Given the description of an element on the screen output the (x, y) to click on. 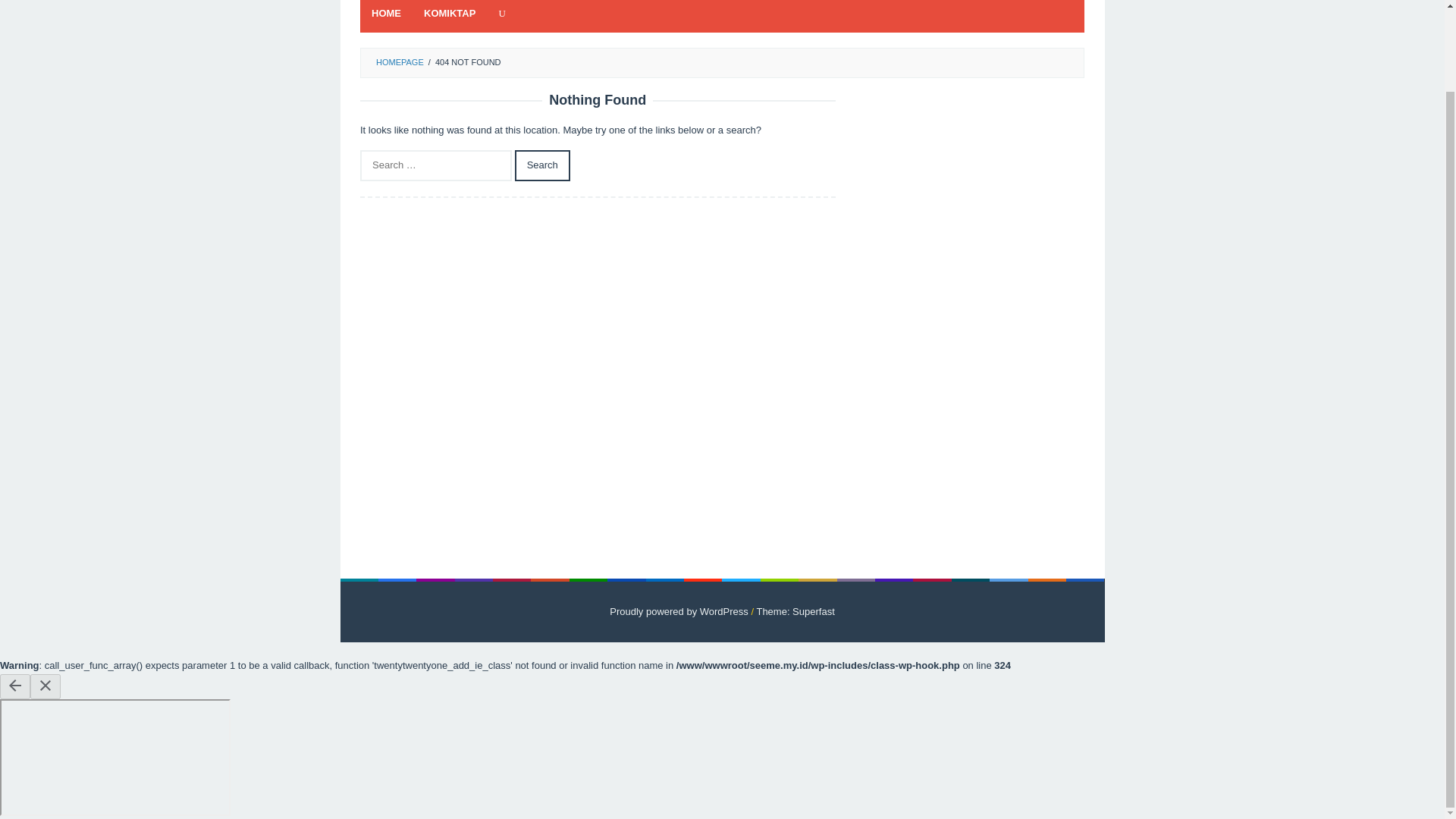
KOMIKTAP (449, 16)
Theme: Superfast (794, 611)
Search (542, 164)
HOMEPAGE (399, 61)
Proudly powered by WordPress (679, 611)
Proudly powered by WordPress (679, 611)
HOME (385, 16)
Search (542, 164)
Theme: Superfast (794, 611)
Search (542, 164)
